Given the description of an element on the screen output the (x, y) to click on. 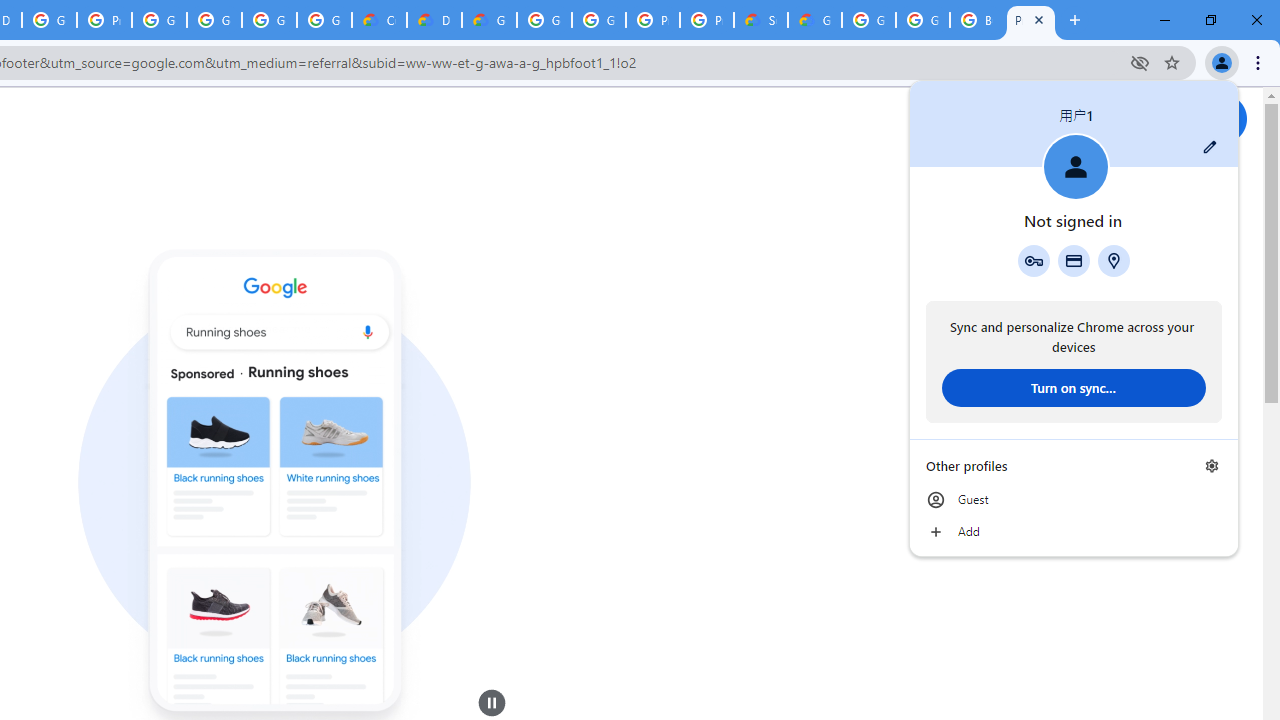
Addresses and more (1114, 260)
Guest (1073, 499)
Customer Care | Google Cloud (379, 20)
Google Cloud Platform (922, 20)
Google Cloud Platform (544, 20)
Gemini for Business and Developers | Google Cloud (489, 20)
Google Cloud Service Health (815, 20)
Add (1073, 531)
